Given the description of an element on the screen output the (x, y) to click on. 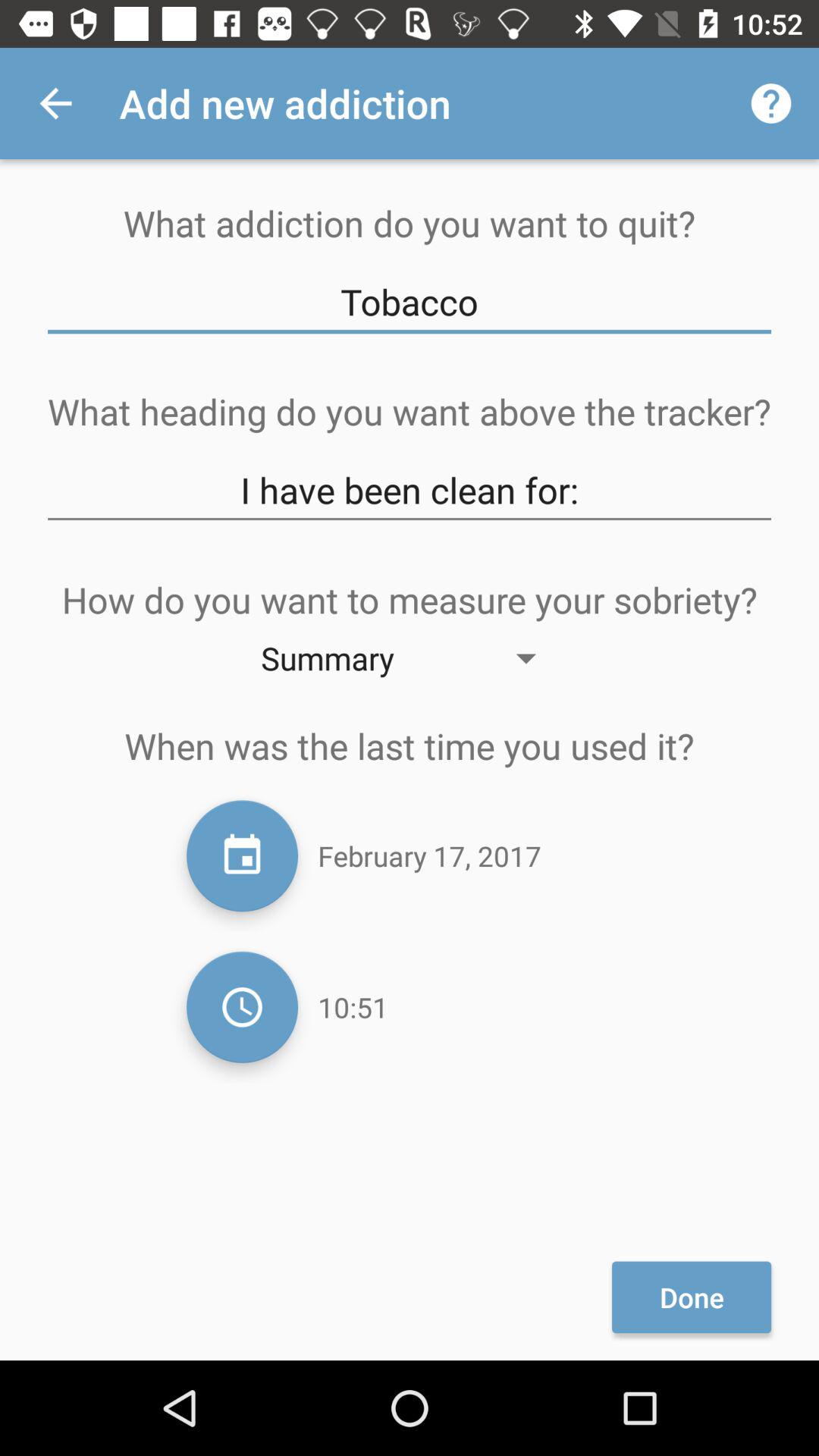
time last used (242, 1006)
